Given the description of an element on the screen output the (x, y) to click on. 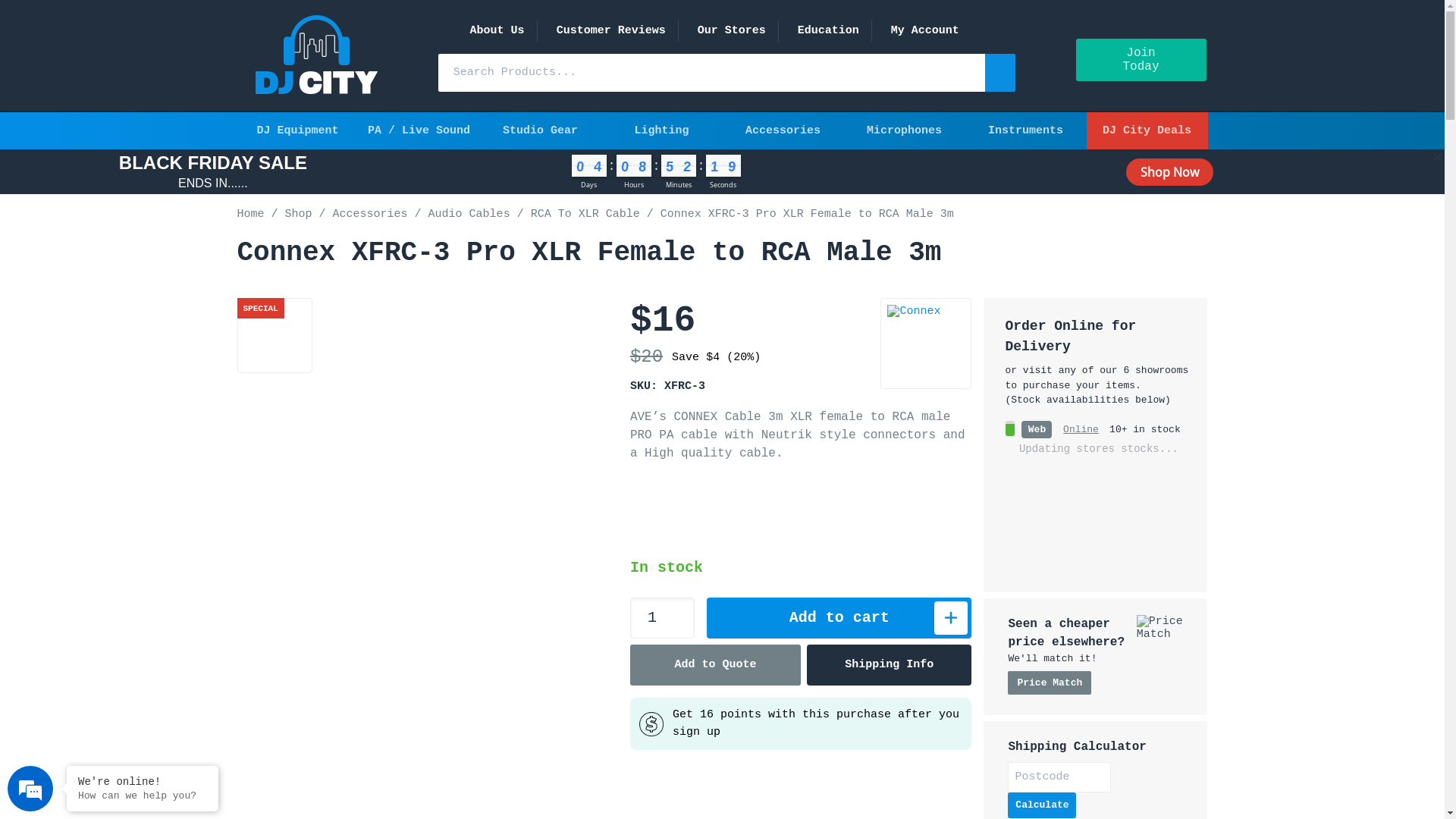
Instruments Element type: text (1024, 130)
Add to Quote Element type: text (715, 664)
Calculate Element type: text (1041, 804)
Price Match Element type: text (1049, 682)
Studio Gear Element type: text (539, 130)
Audio Cables Element type: text (469, 213)
Lighting Element type: text (660, 130)
Education Element type: text (828, 30)
BLACK FRIDAY SALE
ENDS IN...... Element type: text (213, 171)
Microphones Element type: text (903, 130)
RCA To XLR Cable Element type: text (585, 213)
Shop Element type: text (298, 213)
Our Stores Element type: text (731, 30)
DJ Equipment Element type: text (296, 130)
Add to cart Element type: text (839, 617)
Home Element type: text (249, 213)
Accessories Element type: text (782, 130)
Qty Element type: hover (662, 617)
About Us Element type: text (497, 30)
Online Element type: text (1080, 428)
PA / Live Sound Element type: text (418, 130)
Join Today Element type: text (1140, 59)
Shop Now Element type: text (1169, 171)
Accessories Element type: text (369, 213)
DJ City Deals Element type: text (1146, 130)
Connex XFRC-3 XLR female - RCA male 3m PRO PA Element type: hover (274, 335)
My Account Element type: text (925, 30)
Customer Reviews Element type: text (610, 30)
